Given the description of an element on the screen output the (x, y) to click on. 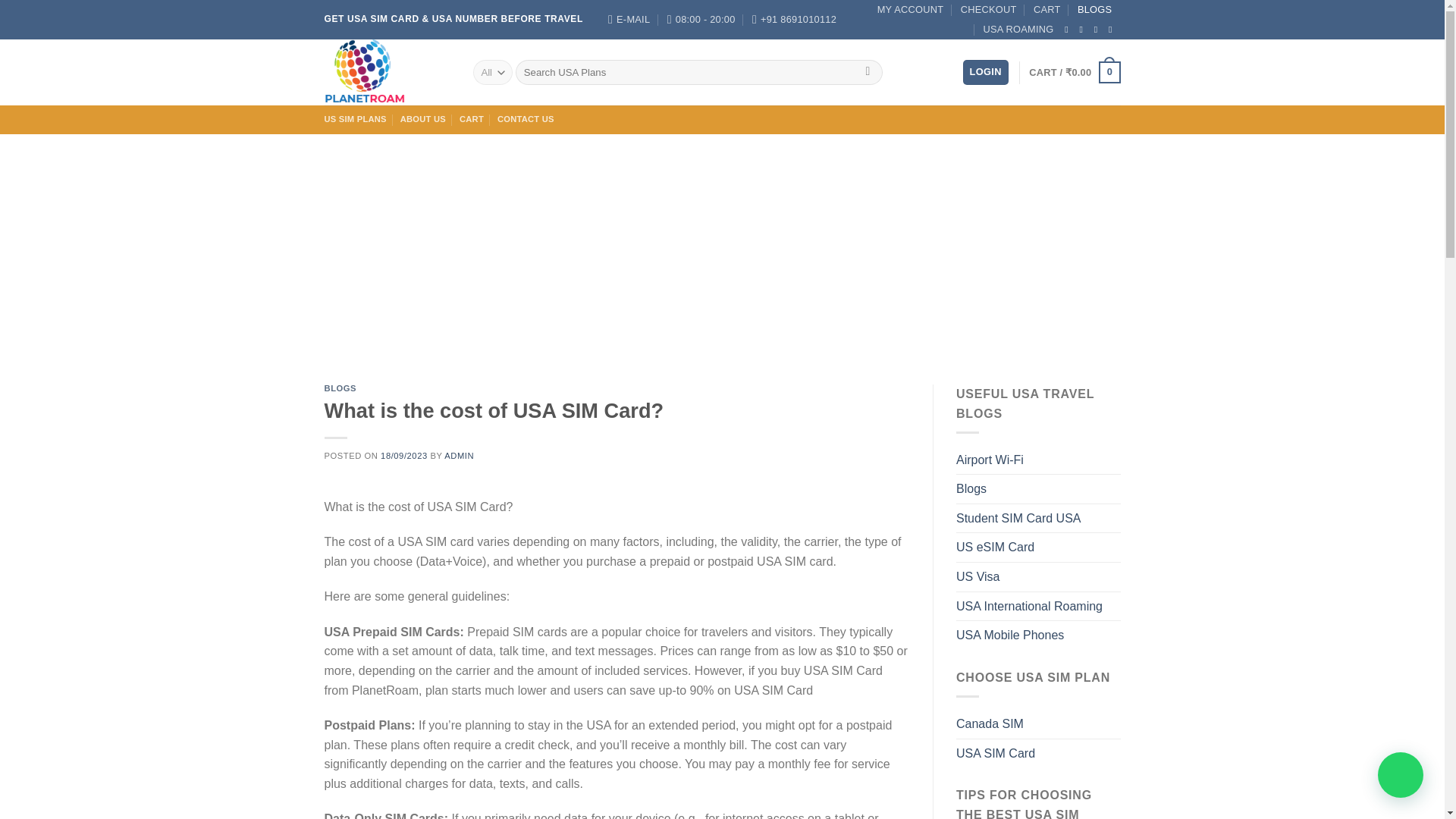
BLOGS (1094, 9)
US SIM PLANS (355, 119)
USA SIM Card - Get USA SIM Card (386, 72)
ABOUT US (422, 119)
BLOGS (340, 388)
08:00 - 20:00 (700, 19)
ADMIN (459, 455)
E-MAIL (628, 19)
CHECKOUT (988, 9)
08:00 - 20:00  (700, 19)
CART (1047, 9)
USA ROAMING (1017, 29)
CONTACT US (525, 119)
LOGIN (985, 72)
Cart (1074, 72)
